Given the description of an element on the screen output the (x, y) to click on. 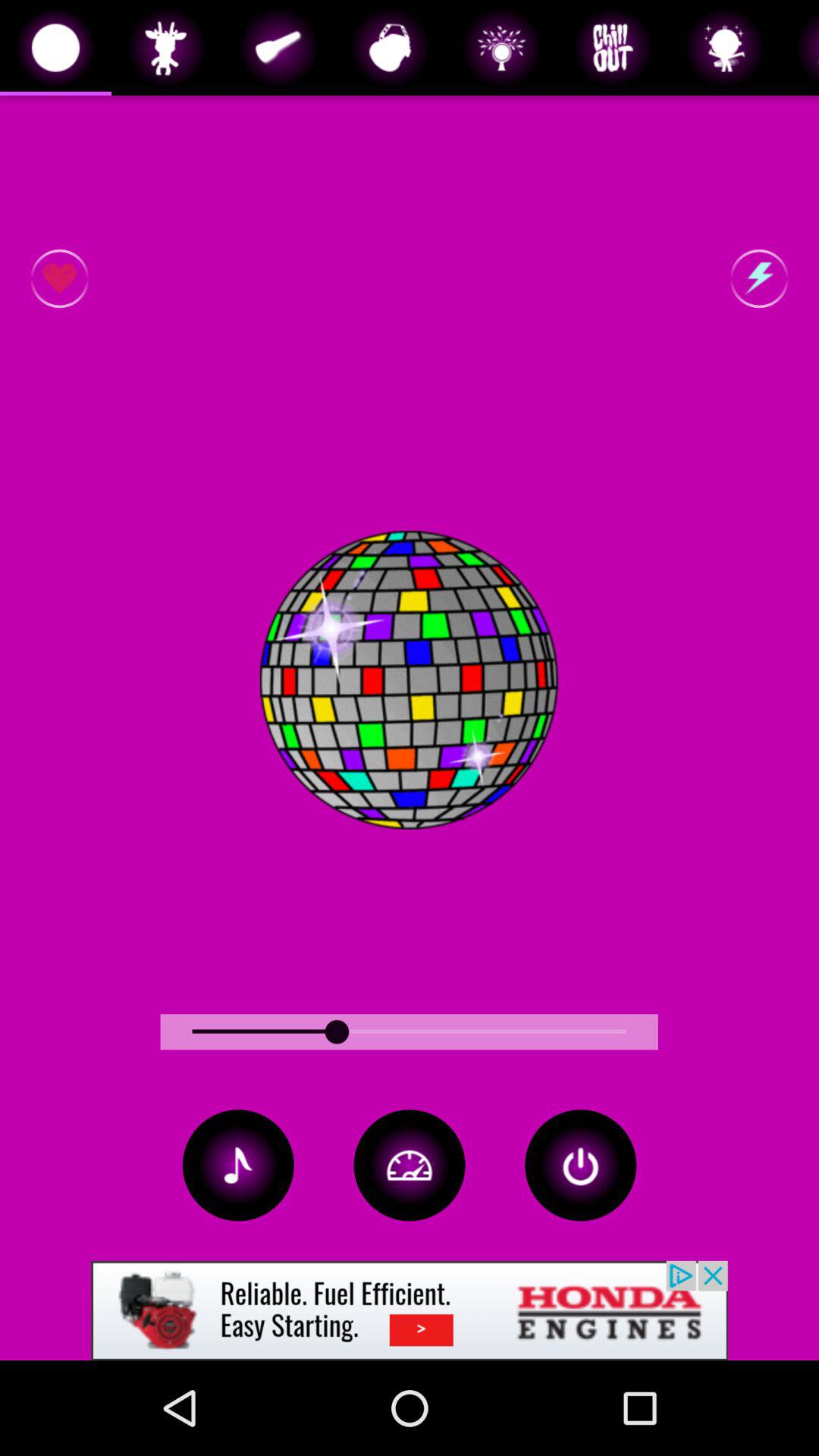
close button (580, 1165)
